Given the description of an element on the screen output the (x, y) to click on. 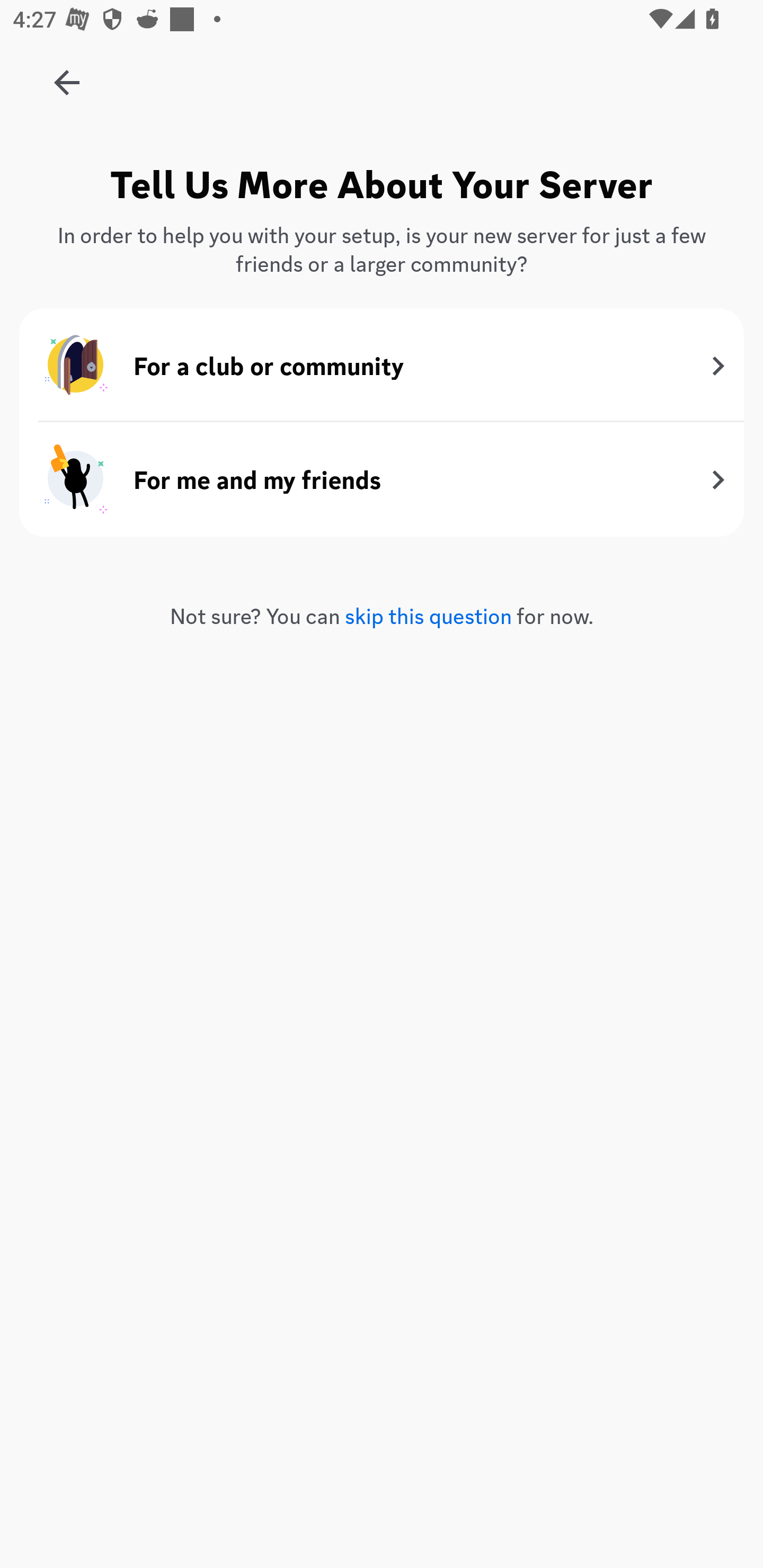
  Friends F (66, 75)
For a club or community (381, 365)
For me and my friends (381, 478)
